Given the description of an element on the screen output the (x, y) to click on. 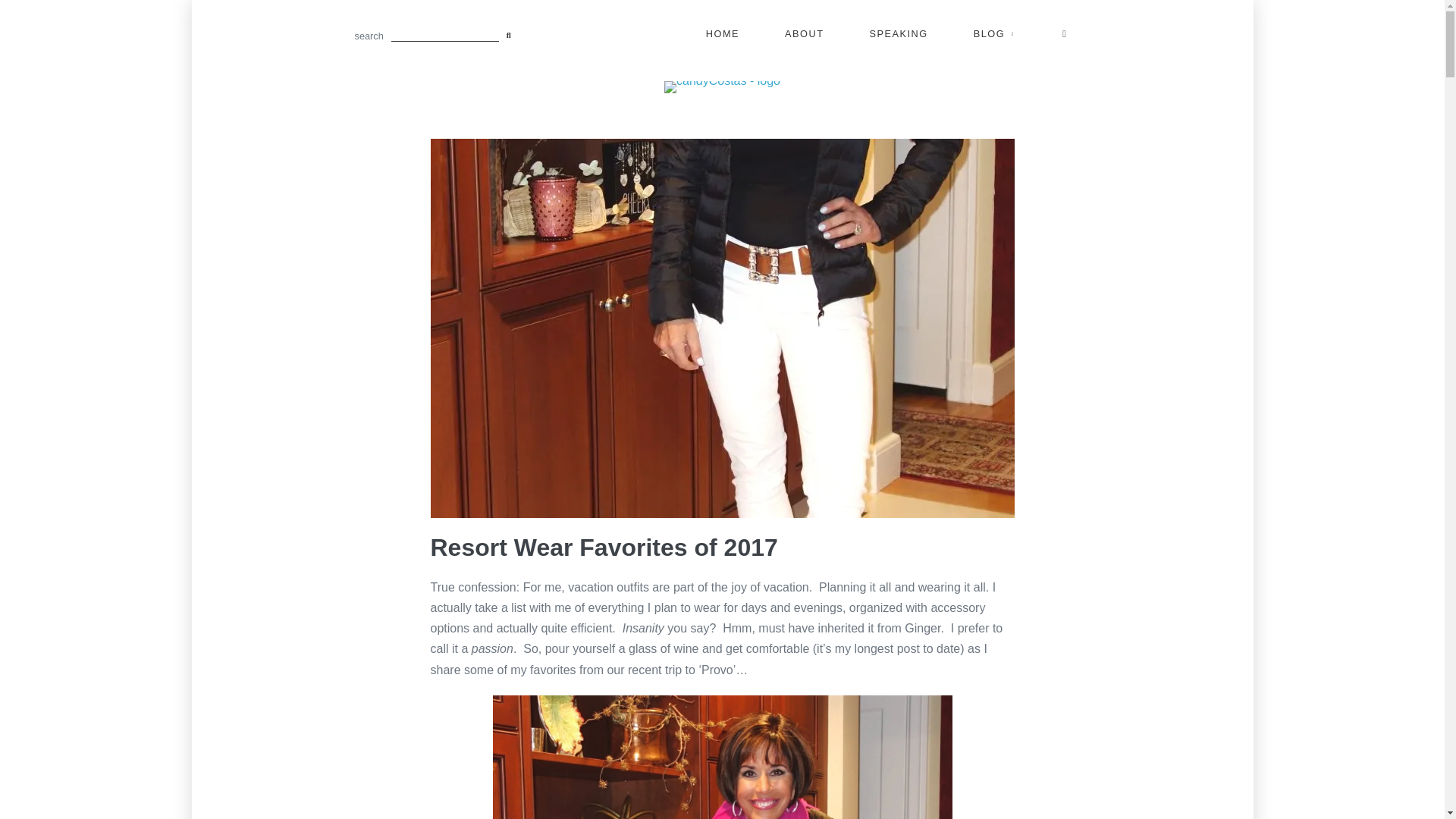
candyCostas - logo (721, 87)
BLOG (995, 34)
HOME (722, 34)
SPEAKING (898, 34)
ABOUT (804, 34)
